Given the description of an element on the screen output the (x, y) to click on. 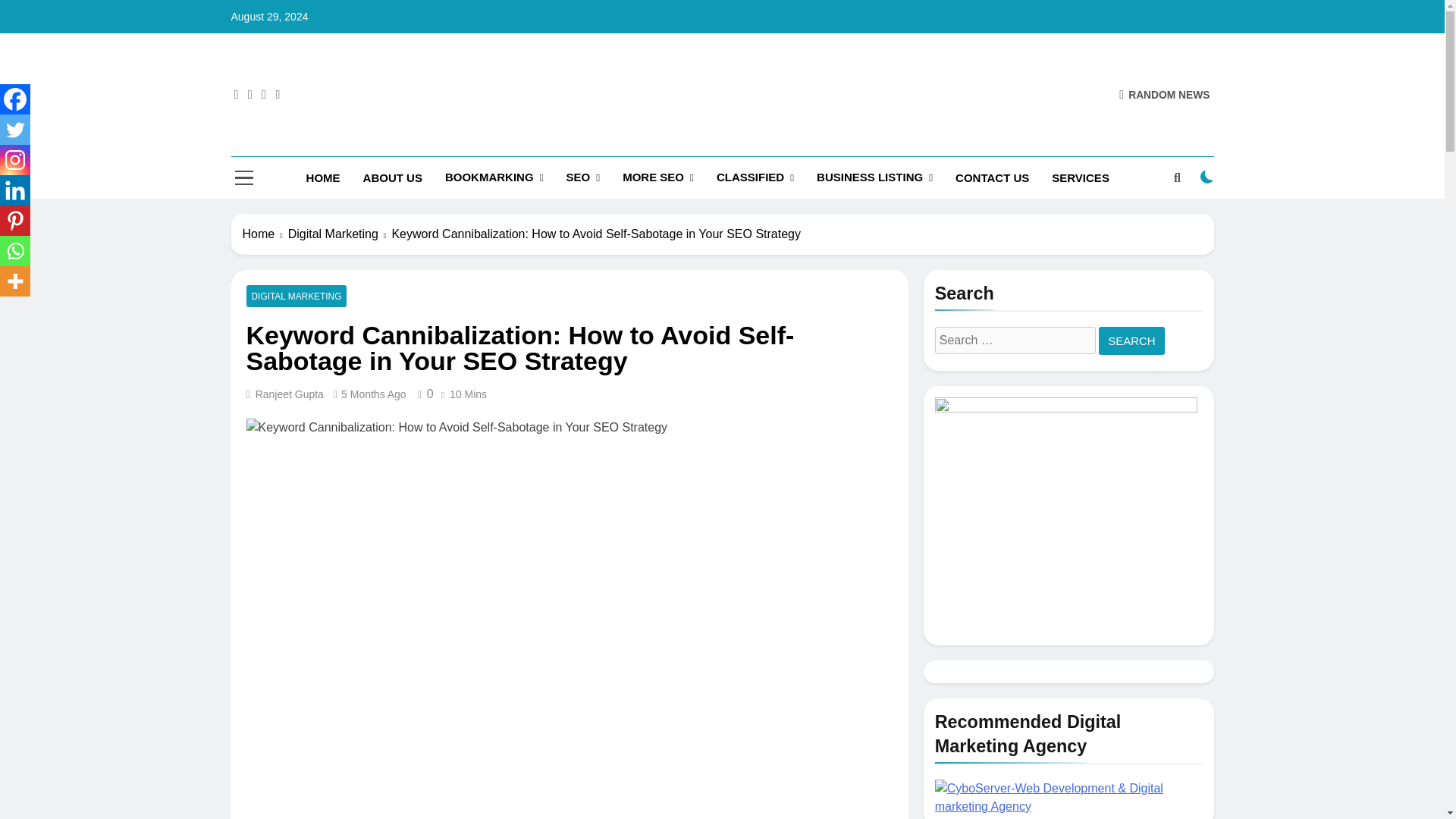
ABOUT US (392, 178)
Rktechtips (559, 161)
HOME (323, 178)
Search (1131, 340)
on (1206, 176)
Twitter (15, 129)
Whatsapp (15, 250)
Instagram (15, 159)
More (15, 281)
Facebook (15, 99)
